Given the description of an element on the screen output the (x, y) to click on. 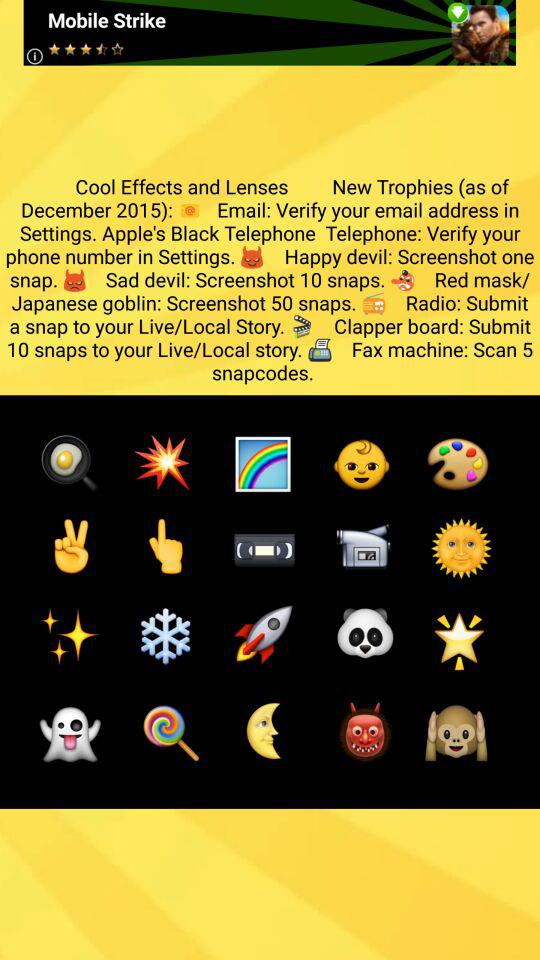
header (269, 32)
